Given the description of an element on the screen output the (x, y) to click on. 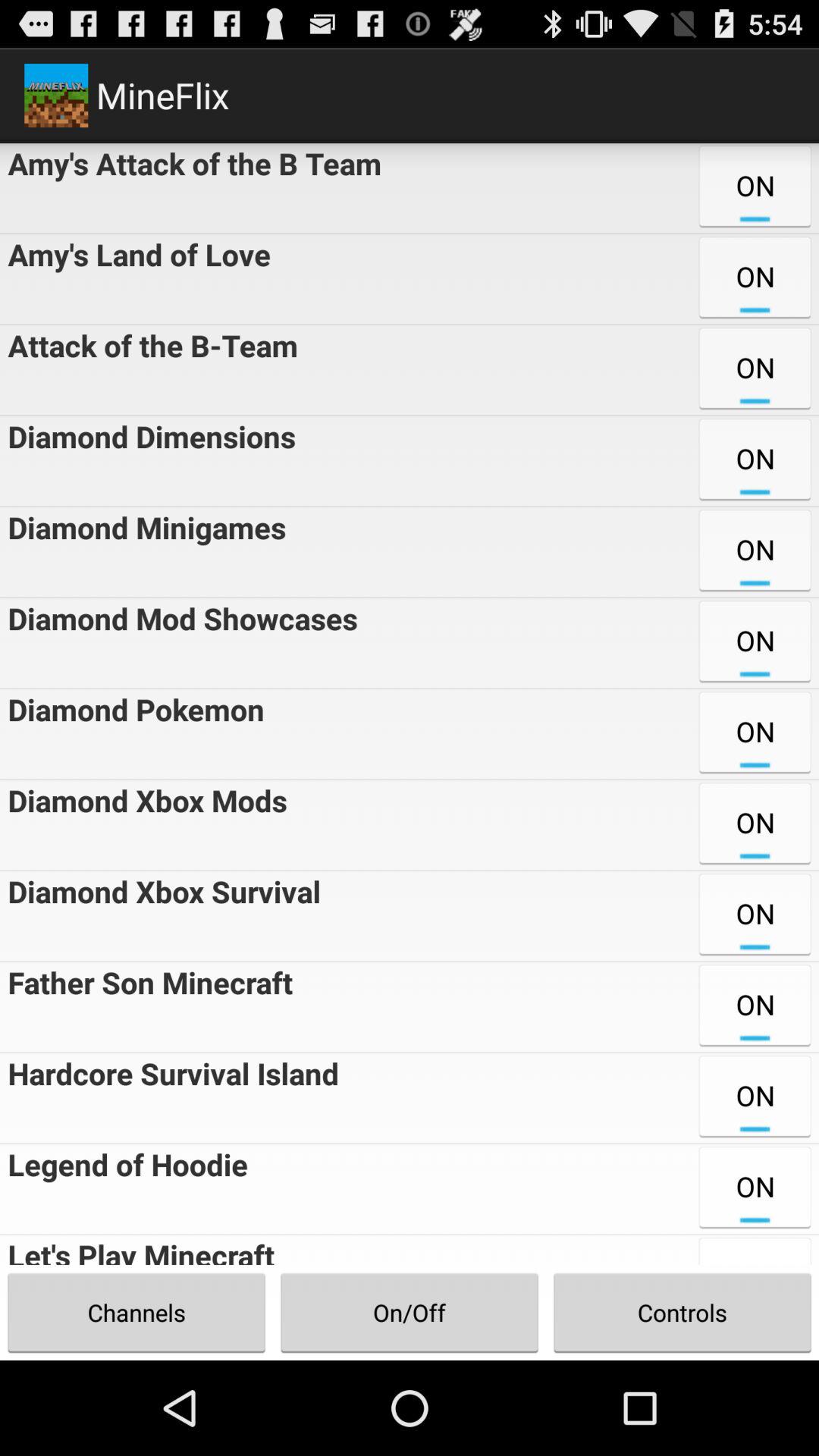
open the item below the diamond dimensions (143, 552)
